Given the description of an element on the screen output the (x, y) to click on. 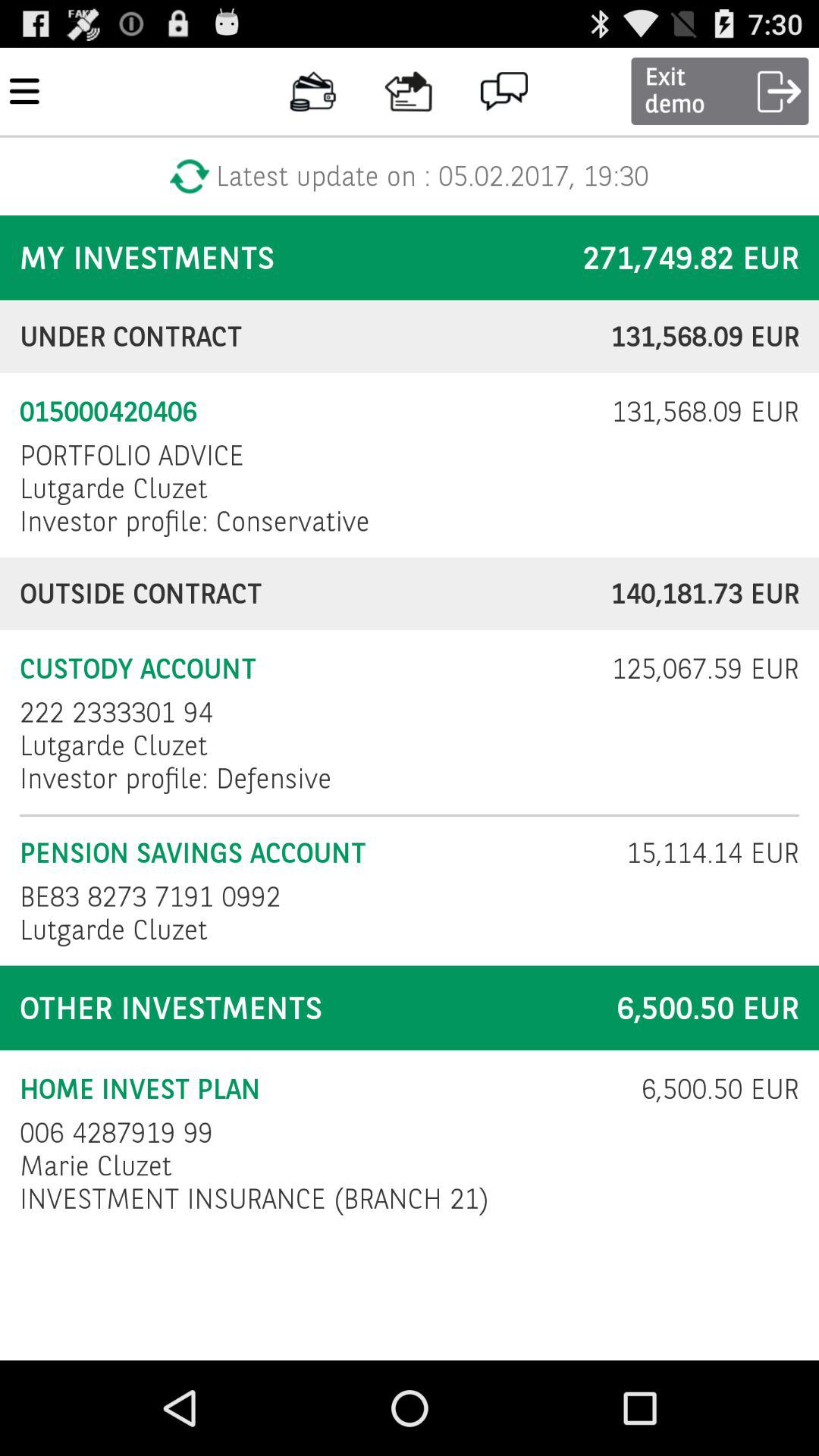
select 015000420406 icon (305, 411)
